Given the description of an element on the screen output the (x, y) to click on. 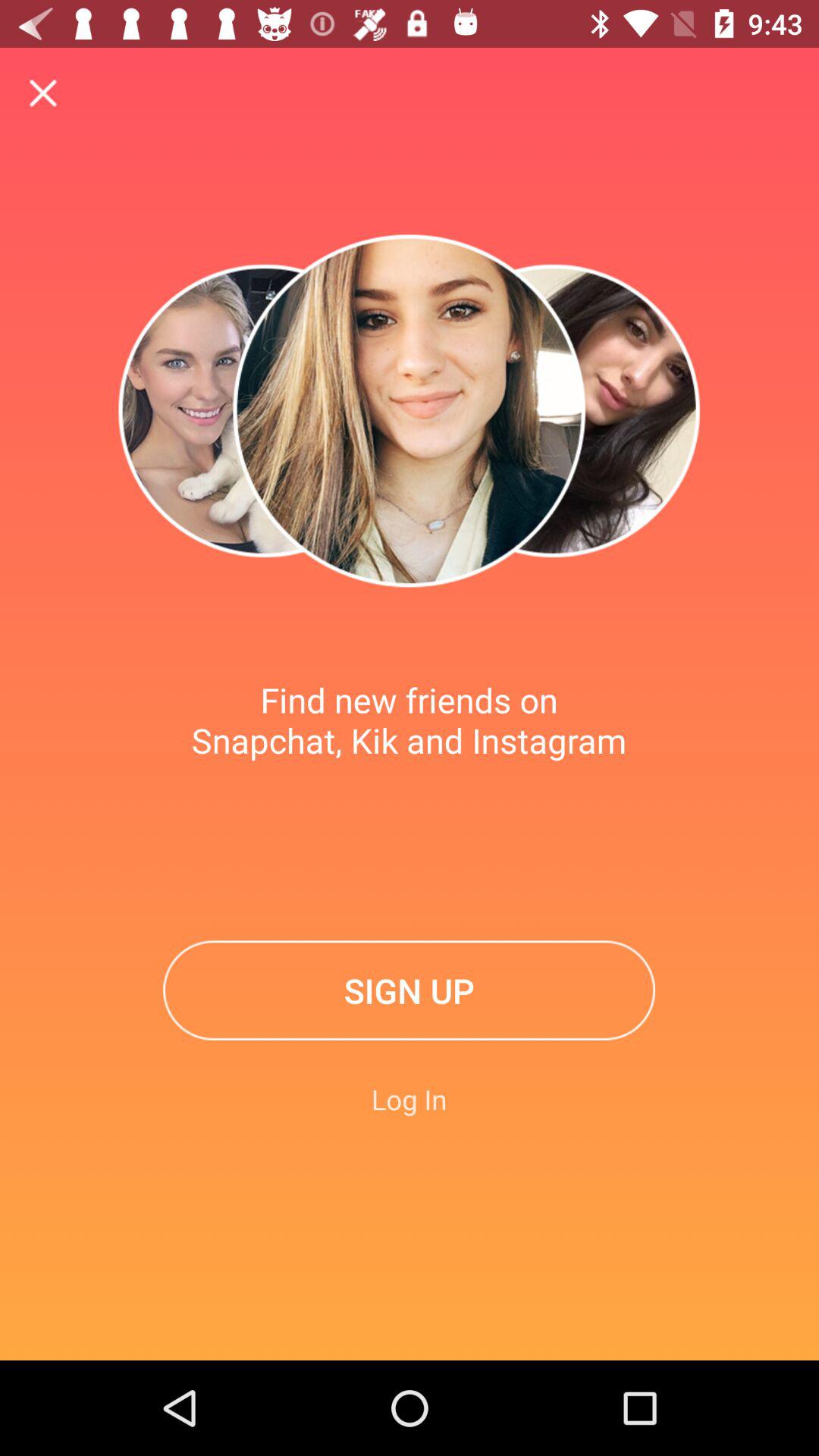
open item below the sign up item (409, 1099)
